Given the description of an element on the screen output the (x, y) to click on. 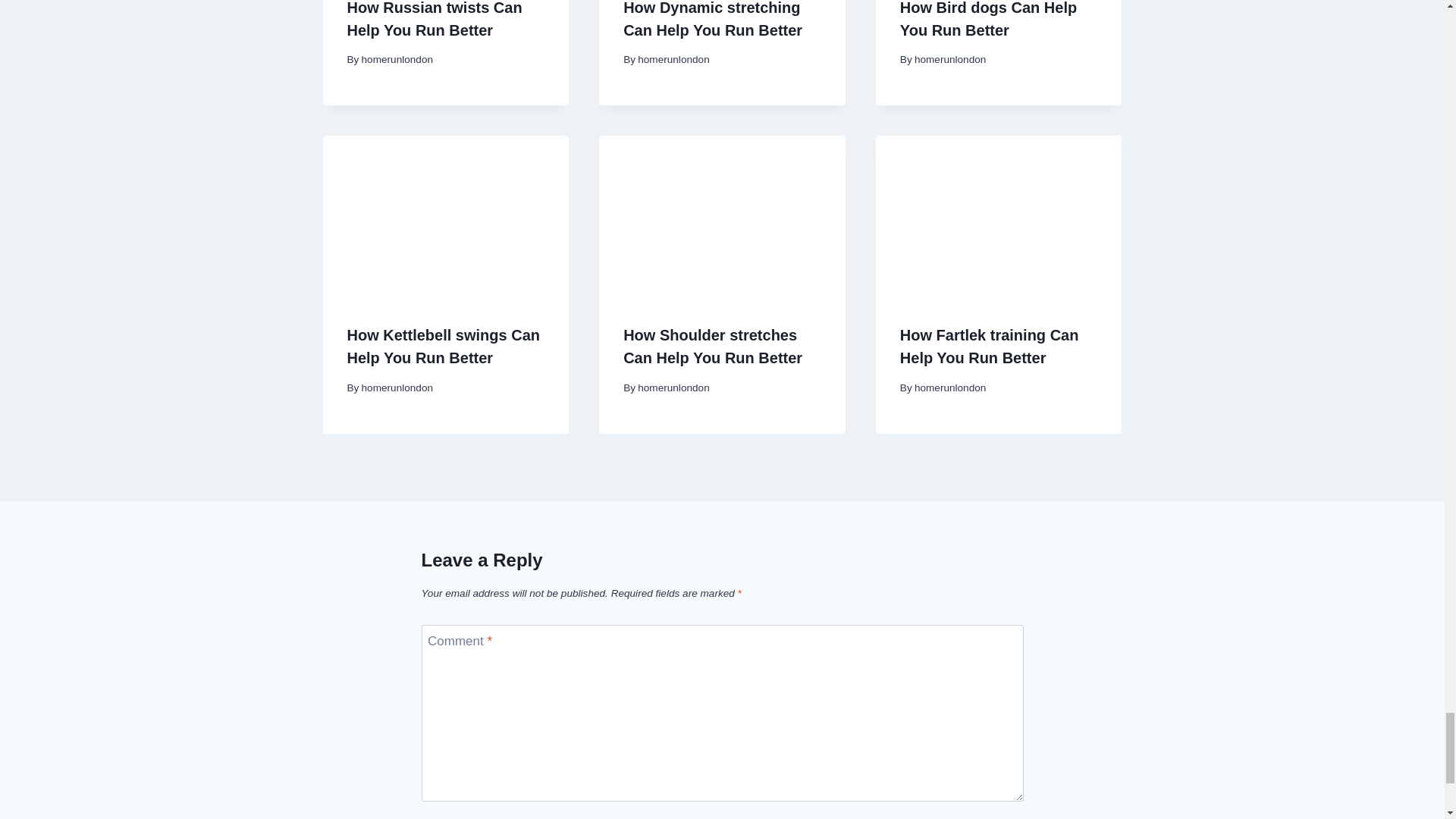
How Dynamic stretching Can Help You Run Better (712, 19)
How Kettlebell swings Can Help You Run Better (443, 346)
How Bird dogs Can Help You Run Better (988, 19)
How Russian twists Can Help You Run Better (434, 19)
homerunlondon (673, 59)
homerunlondon (949, 59)
homerunlondon (396, 59)
How Shoulder stretches Can Help You Run Better (712, 346)
homerunlondon (396, 387)
